Given the description of an element on the screen output the (x, y) to click on. 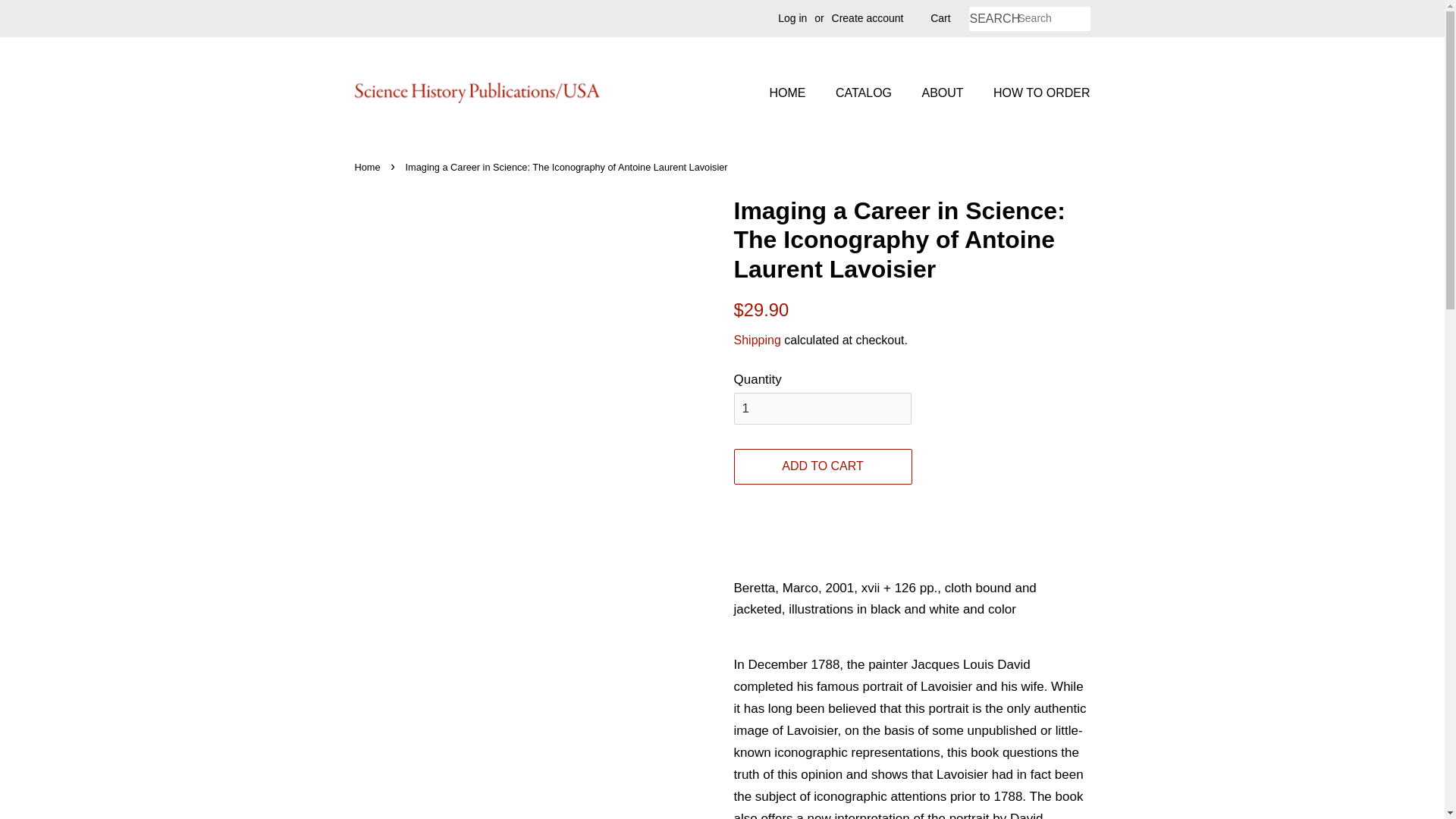
Create account (867, 18)
Cart (940, 18)
Shipping (756, 339)
ADD TO CART (822, 466)
HOME (794, 92)
Back to the frontpage (369, 166)
Log in (791, 18)
1 (822, 409)
SEARCH (993, 18)
HOW TO ORDER (1035, 92)
